Given the description of an element on the screen output the (x, y) to click on. 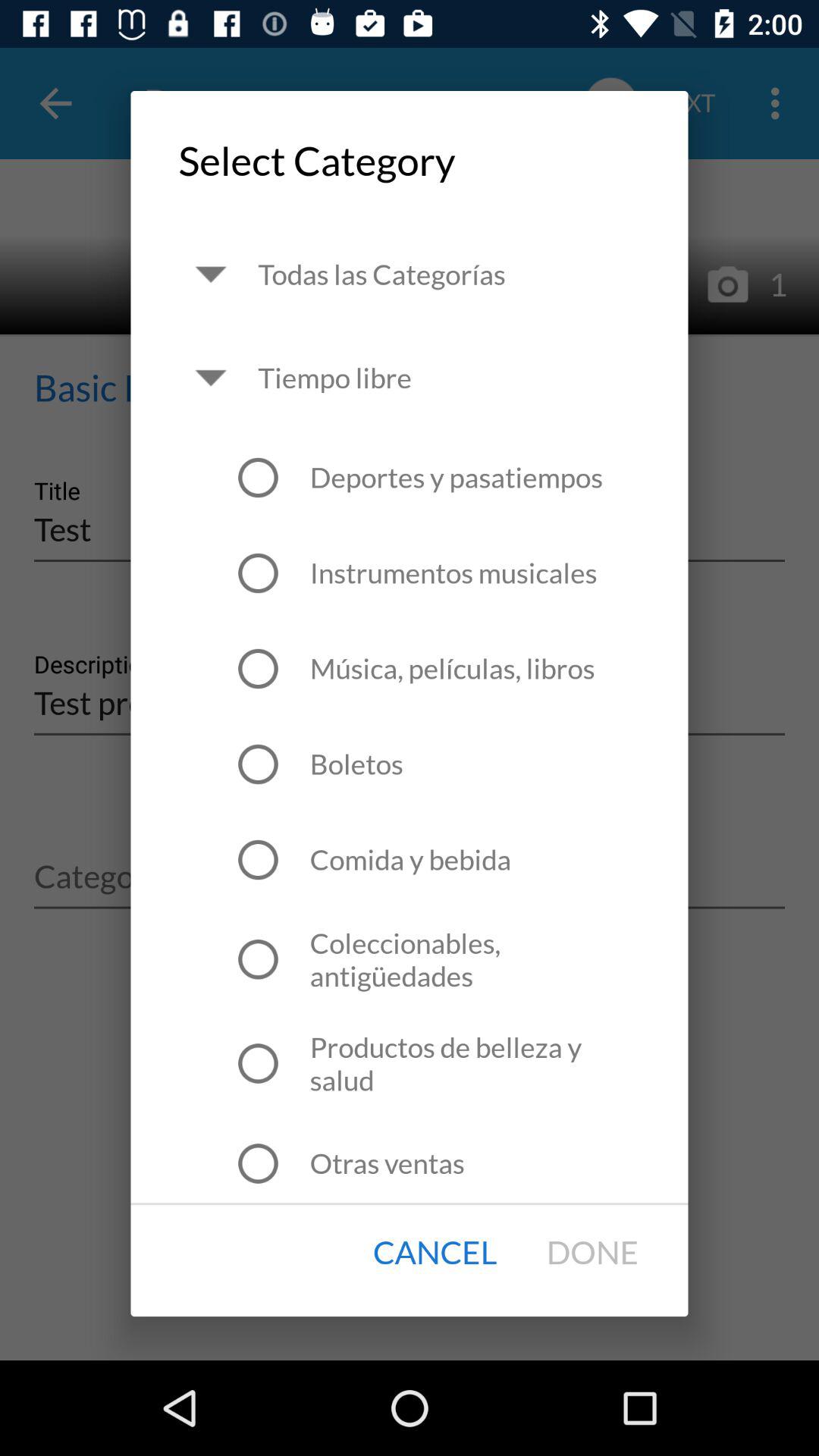
scroll until cancel item (435, 1252)
